Given the description of an element on the screen output the (x, y) to click on. 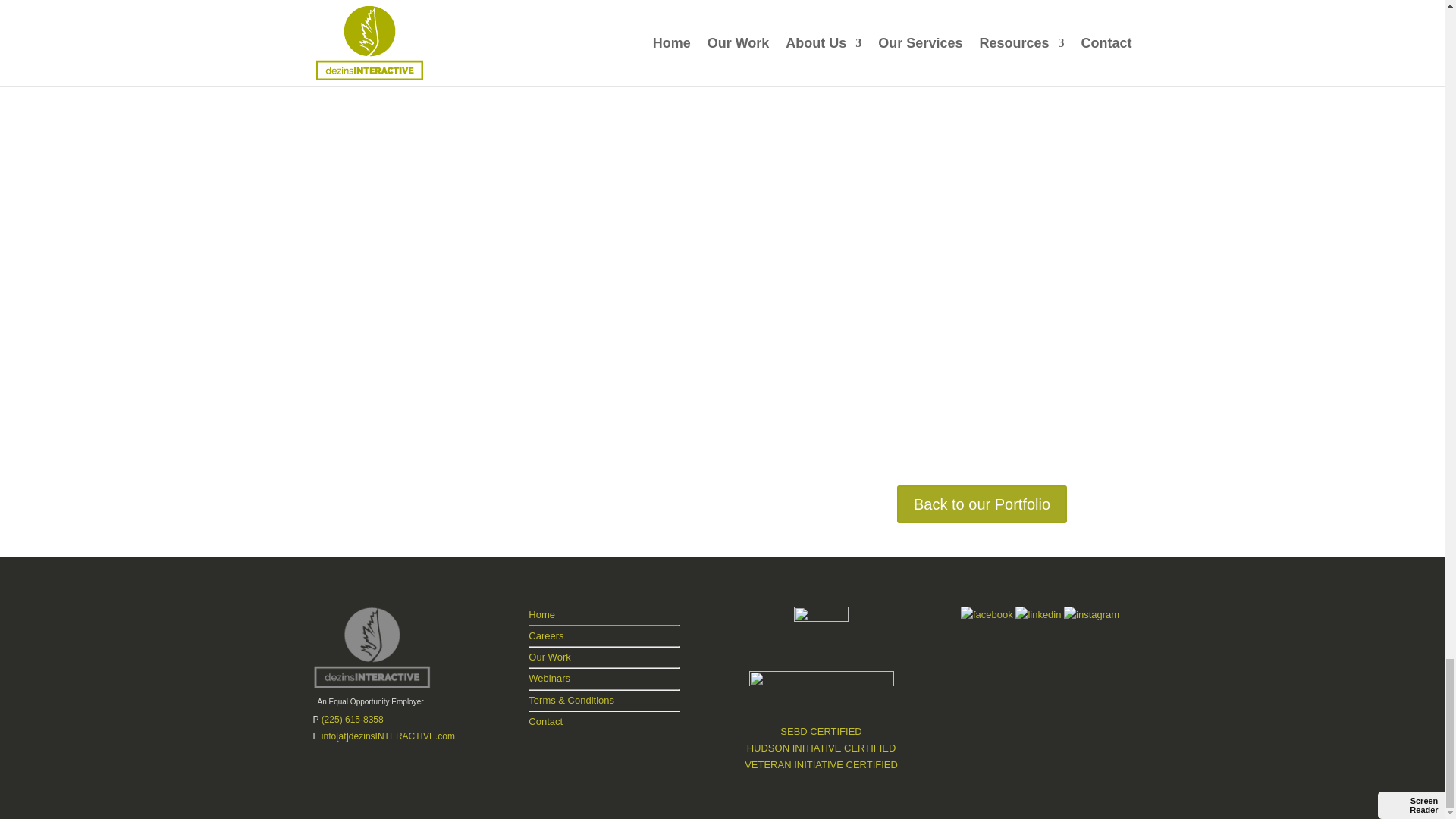
VETERAN INITIATIVE CERTIFIED (821, 764)
Careers (545, 635)
Home (541, 614)
Contact (545, 721)
Our Work (549, 656)
HUDSON INITIATIVE CERTIFIED (821, 747)
Back to our Portfolio (981, 504)
Webinars (549, 677)
SEBD CERTIFIED (820, 731)
